Given the description of an element on the screen output the (x, y) to click on. 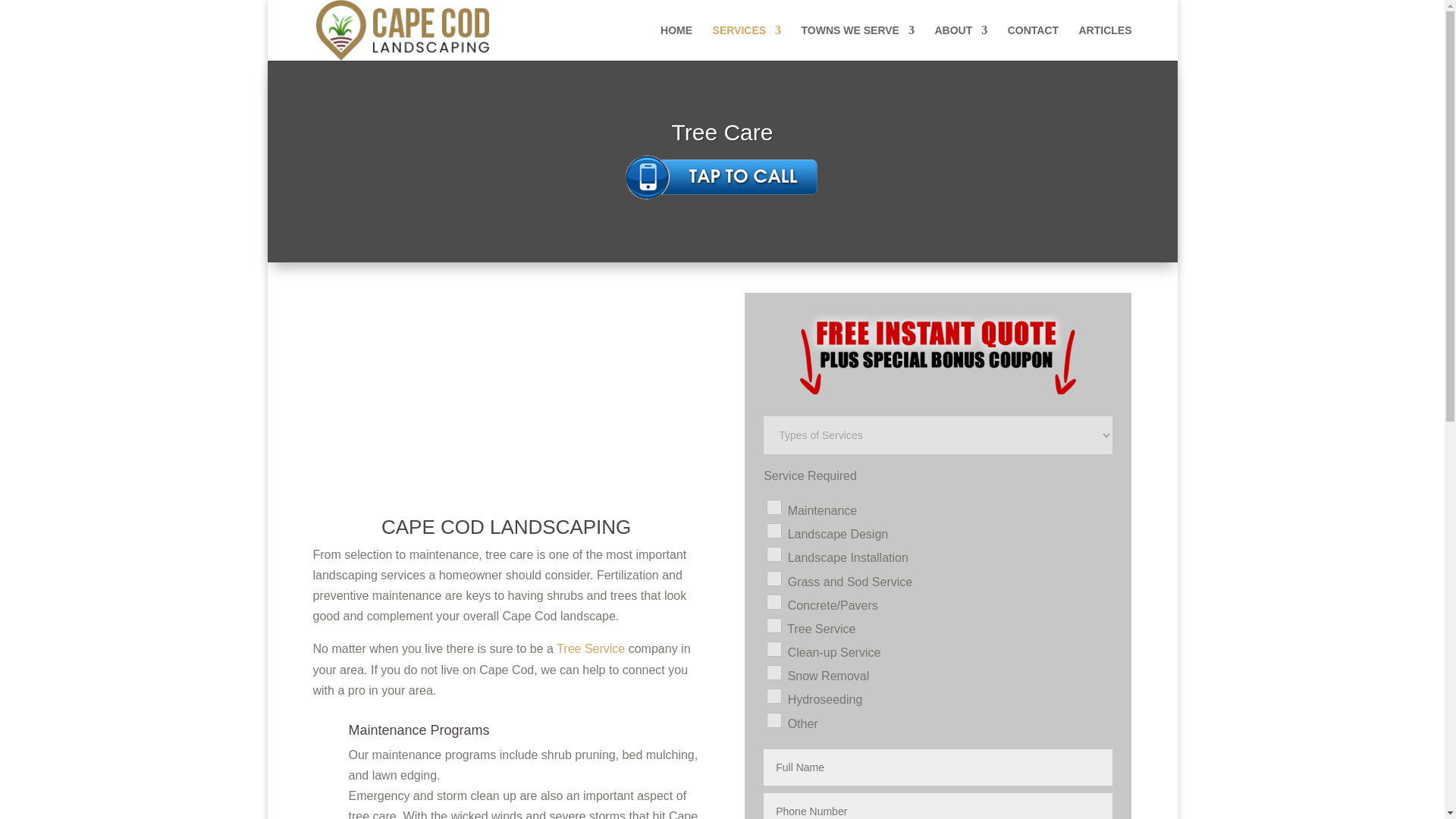
Other (774, 720)
Landscape Design (774, 530)
Clean-up Service (774, 648)
TOWNS WE SERVE (858, 42)
ARTICLES (1104, 42)
Tree Service (590, 648)
Tree Service (774, 625)
SERVICES (747, 42)
Snow Removal (774, 672)
Maintenance (774, 507)
